Given the description of an element on the screen output the (x, y) to click on. 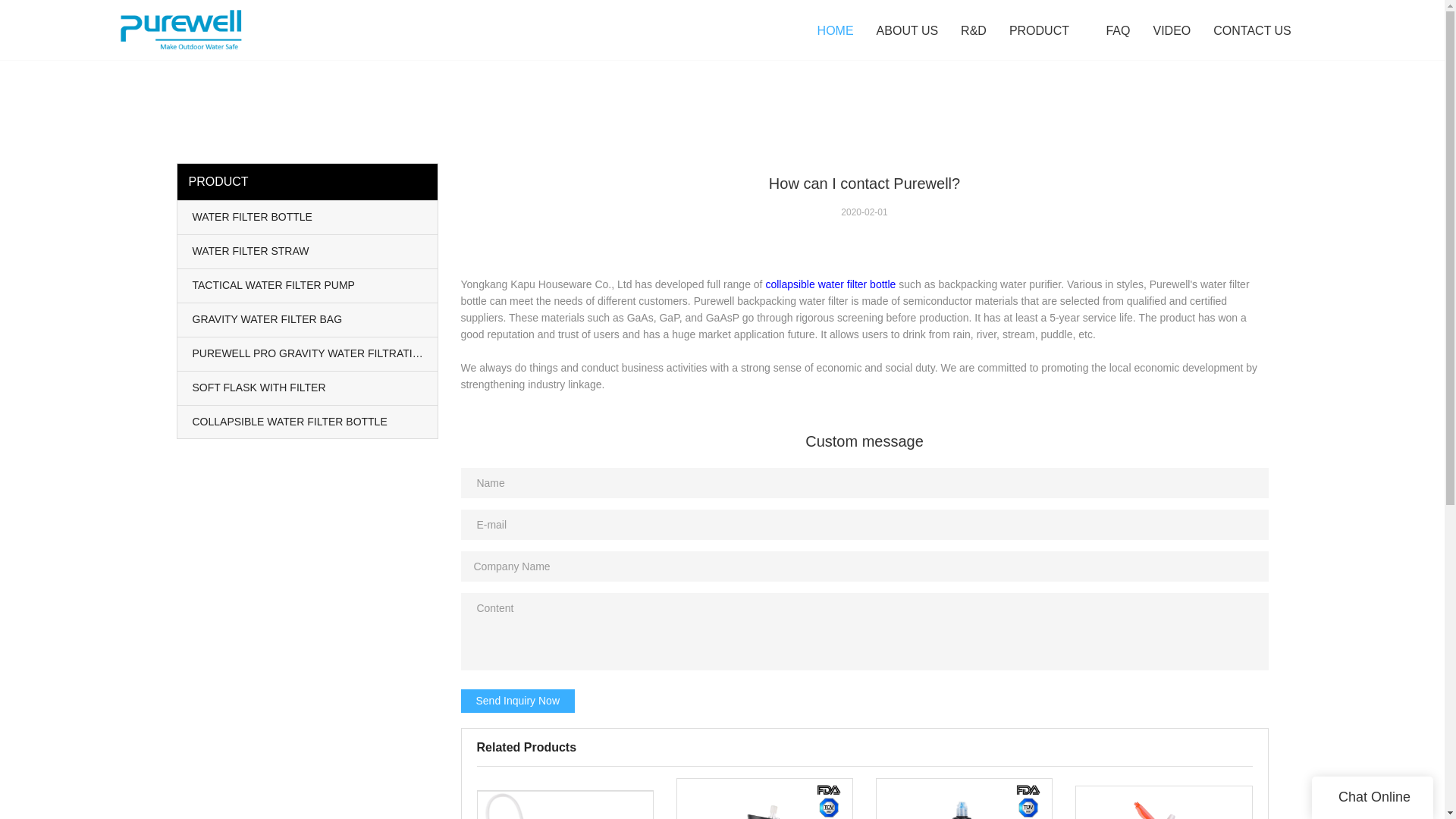
TACTICAL WATER FILTER PUMP (307, 285)
WATER FILTER STRAW (307, 251)
FAQ (1117, 31)
Send Inquiry Now (518, 700)
HOME (835, 31)
ABOUT US (907, 31)
GRAVITY WATER FILTER BAG (307, 319)
COLLAPSIBLE WATER FILTER BOTTLE (307, 421)
collapsible water filter bottle (830, 284)
Purewell Tactical Portable Water Filter Pump K8188 (564, 804)
VIDEO (1171, 31)
CONTACT US (1252, 31)
PUREWELL PRO GRAVITY WATER FILTRATION SYSTEM (307, 354)
